Given the description of an element on the screen output the (x, y) to click on. 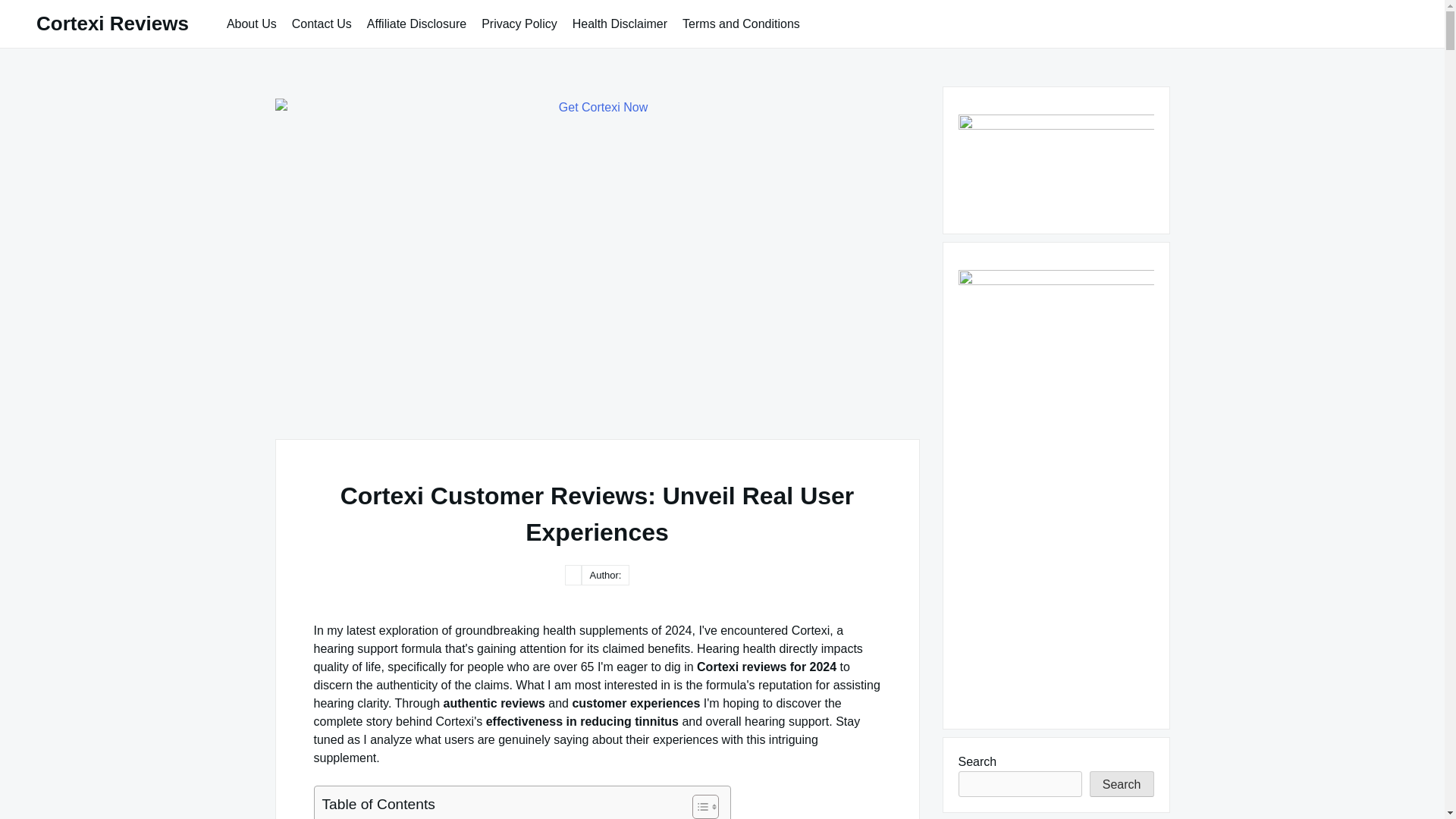
Terms and Conditions (741, 23)
About Us (251, 23)
Contact Us (321, 23)
Affiliate Disclosure (416, 23)
Cortexi Reviews (112, 23)
Privacy Policy (519, 23)
Health Disclaimer (619, 23)
